Given the description of an element on the screen output the (x, y) to click on. 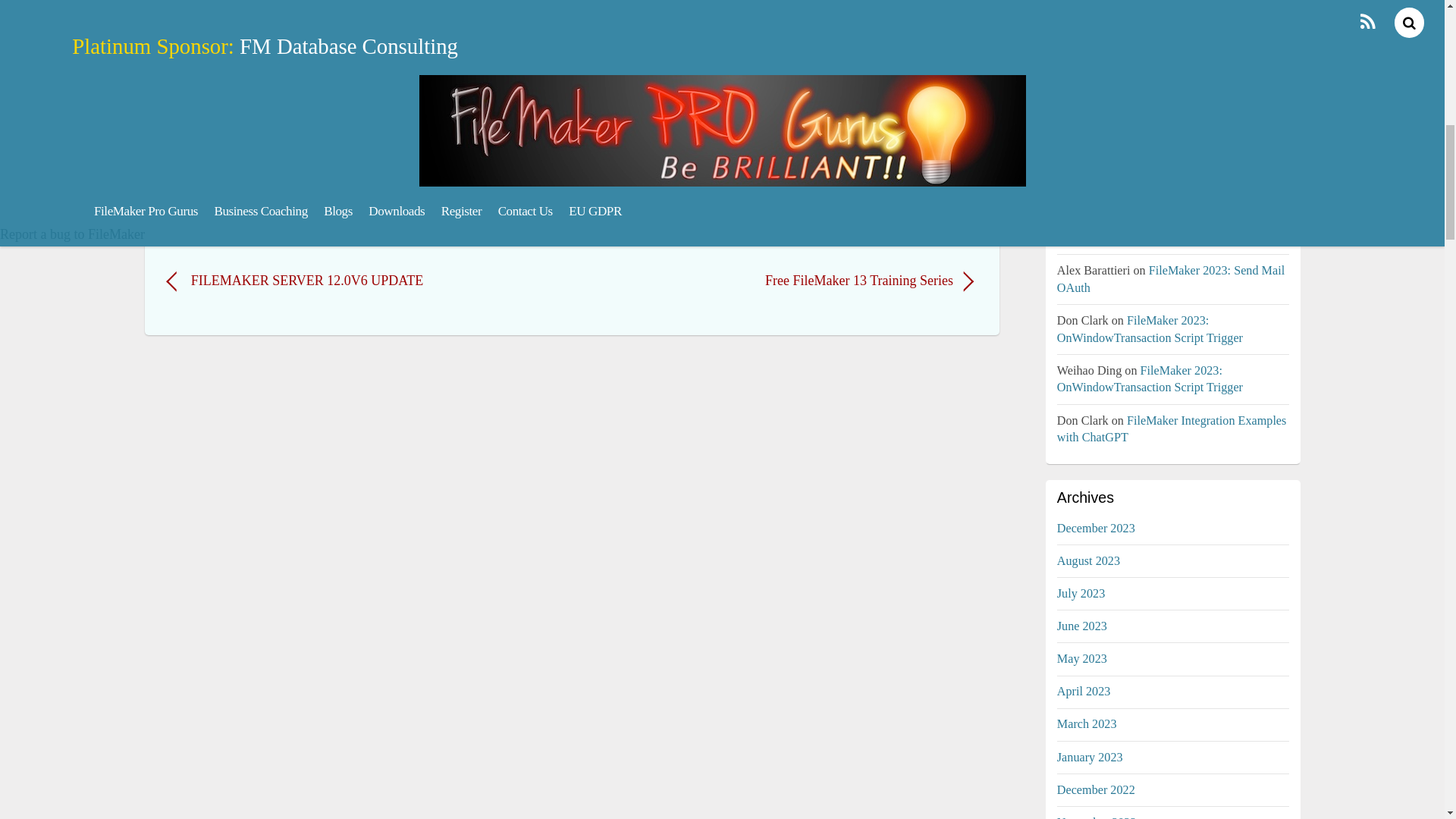
Twitter (186, 140)
Contact FM Pro Gurus for help (287, 219)
Pinterest (261, 140)
FileMaker 2023: OnWindowTransaction Script Trigger (1172, 2)
LinkedIn (302, 140)
FileMaker 2023: Send Mail OAuth (1160, 228)
